Given the description of an element on the screen output the (x, y) to click on. 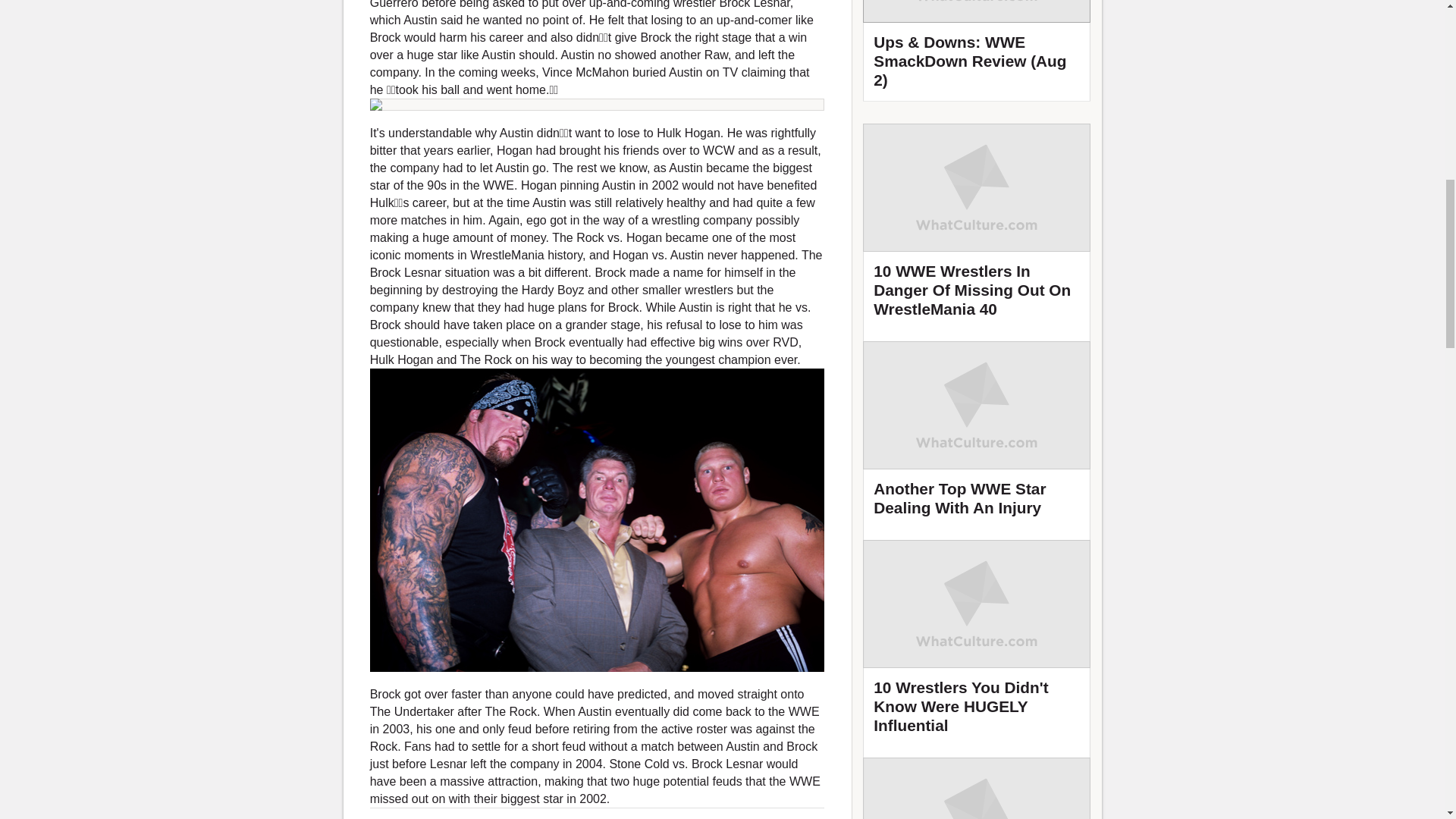
Featured Video (976, 50)
10 Wrestlers You Didn't Know Were HUGELY Influential (976, 642)
Another Top WWE Star Dealing With An Injury (976, 435)
10 WWE Wrestlers In Danger Of Missing Out On WrestleMania 40 (976, 226)
